Given the description of an element on the screen output the (x, y) to click on. 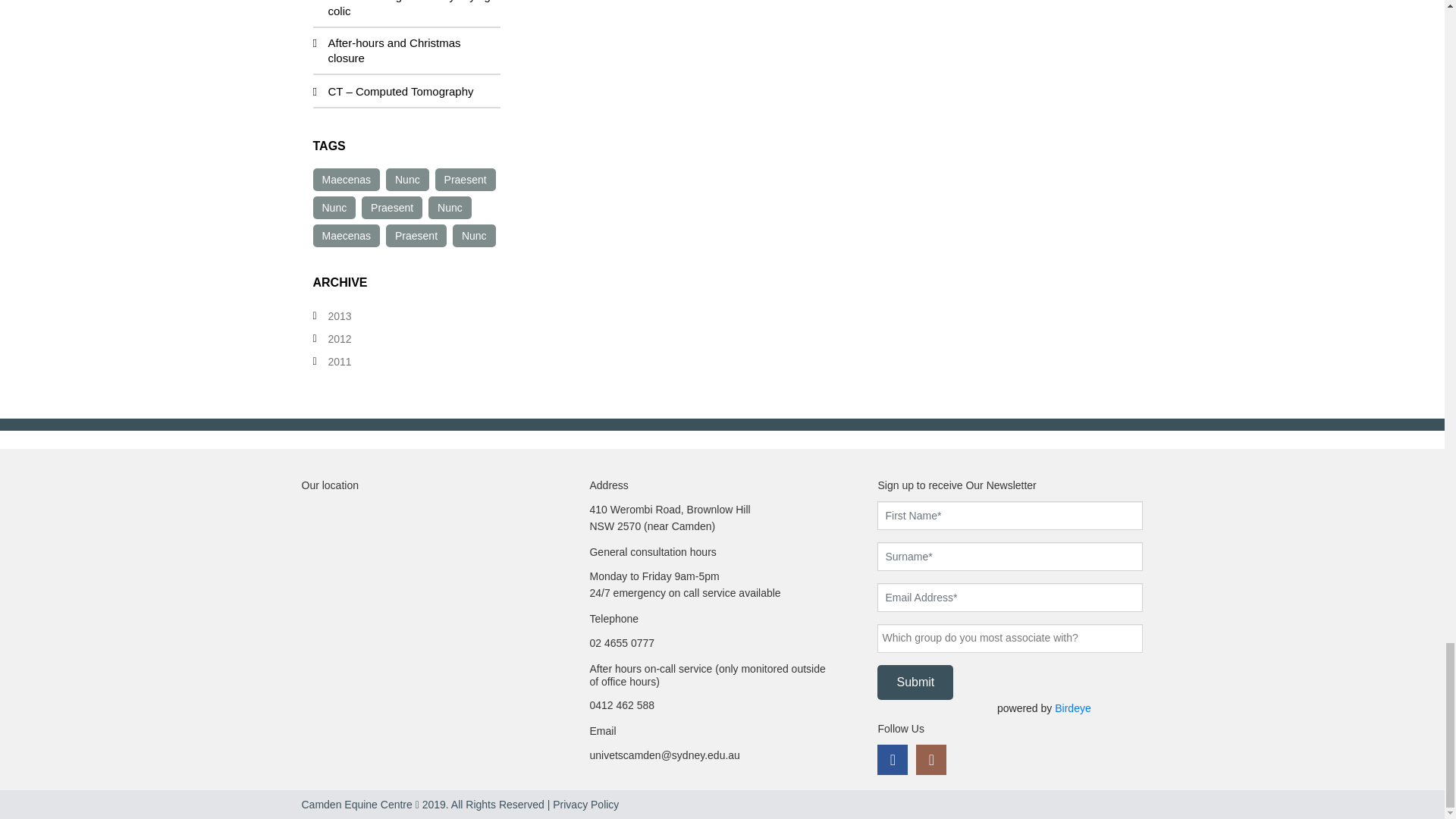
Praesent (465, 179)
After-hours and Christmas closure (393, 50)
Nunc (407, 179)
Understanding and demystifying colic (408, 8)
Submit (915, 682)
Maecenas (346, 179)
Nunc (334, 207)
